Given the description of an element on the screen output the (x, y) to click on. 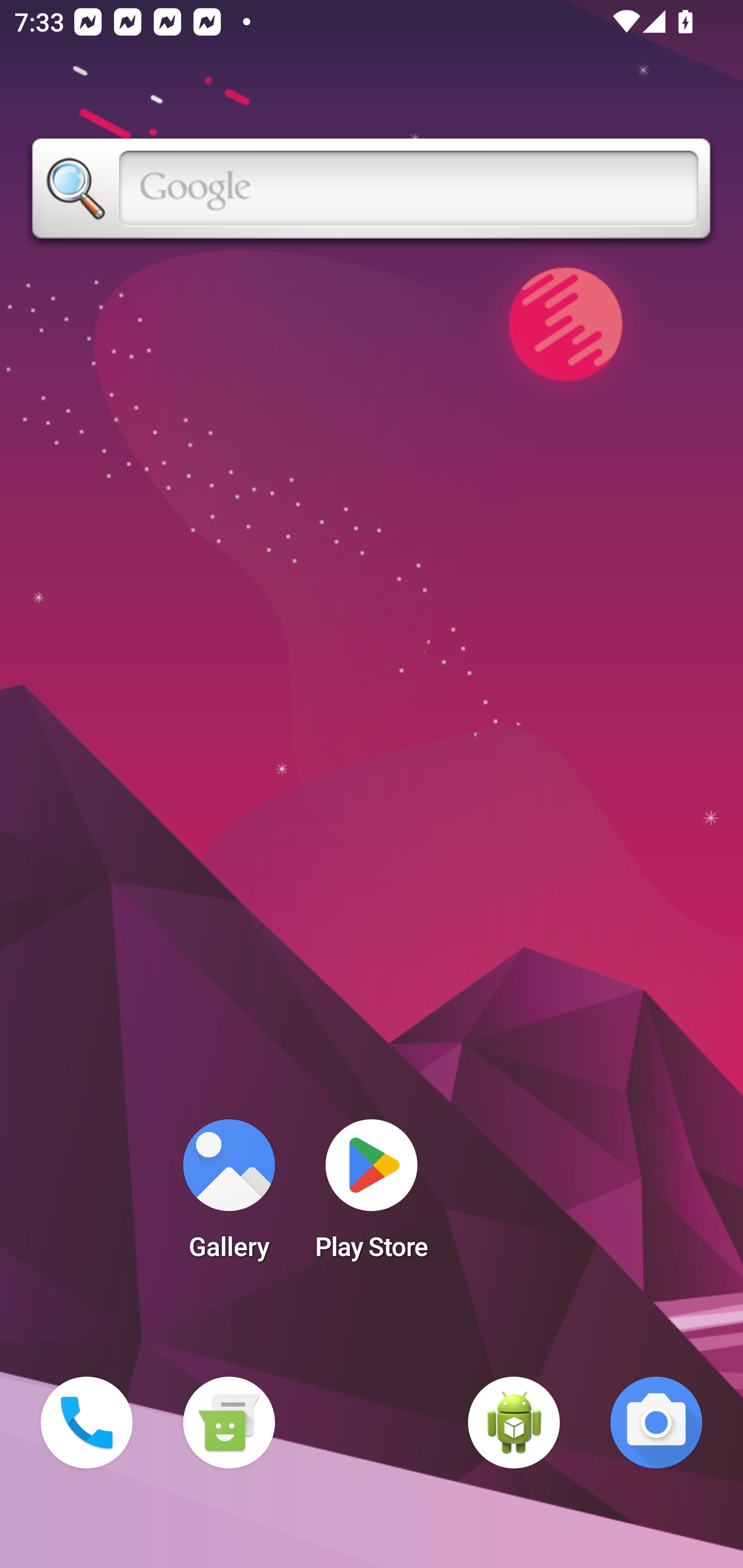
Gallery (228, 1195)
Play Store (371, 1195)
Phone (86, 1422)
Messaging (228, 1422)
WebView Browser Tester (513, 1422)
Camera (656, 1422)
